Given the description of an element on the screen output the (x, y) to click on. 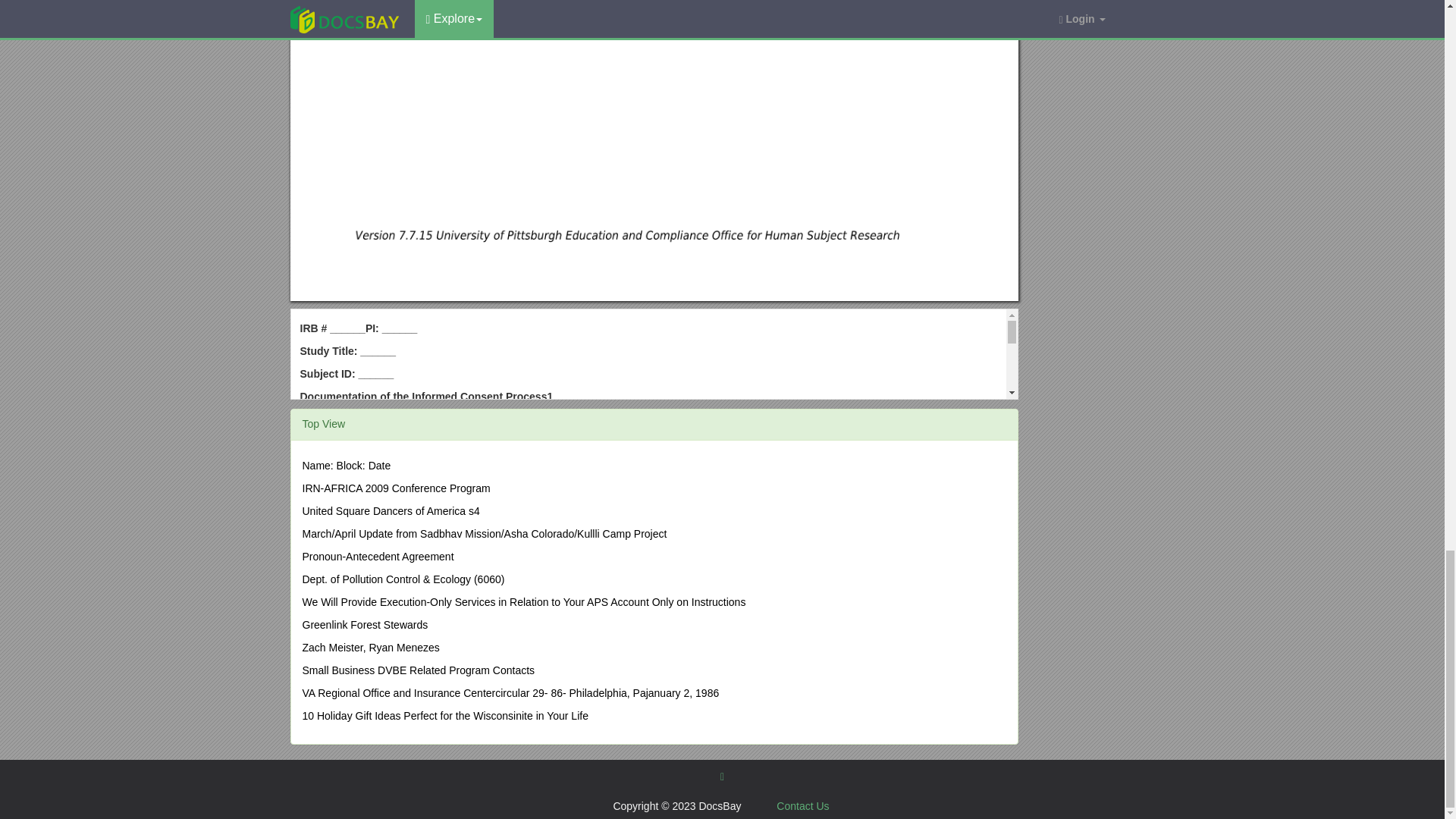
Contact Us (802, 806)
Small Business DVBE Related Program Contacts (417, 670)
Name: Block: Date (345, 465)
Zach Meister, Ryan Menezes (370, 647)
United Square Dancers of America s4 (390, 510)
Pronoun-Antecedent Agreement (376, 556)
IRN-AFRICA 2009 Conference Program (395, 488)
Greenlink Forest Stewards (364, 624)
